Given the description of an element on the screen output the (x, y) to click on. 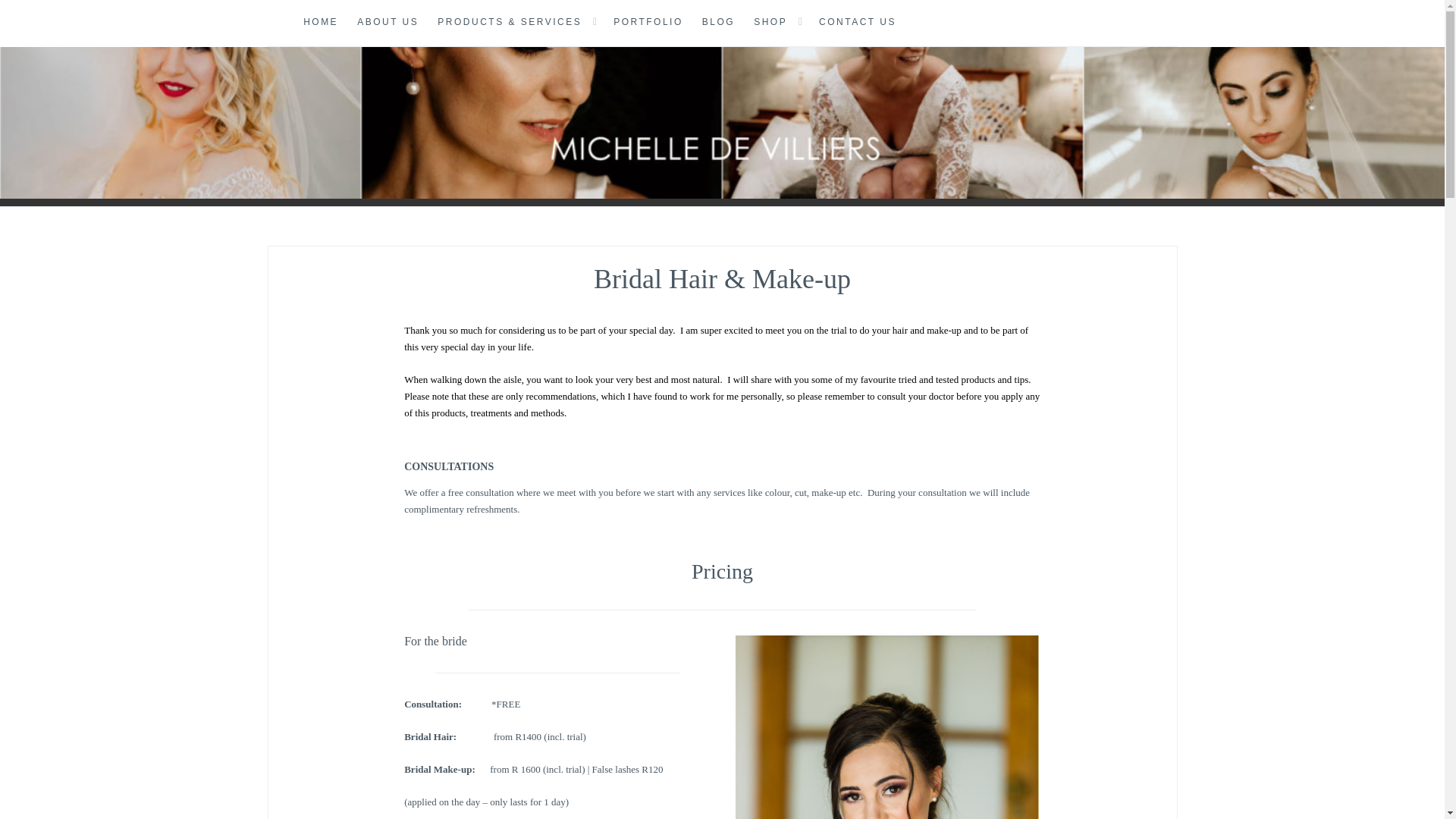
BLOG (718, 22)
ABOUT US (387, 22)
CONTACT US (857, 22)
SHOP (770, 22)
HOME (319, 22)
PORTFOLIO (647, 22)
